Given the description of an element on the screen output the (x, y) to click on. 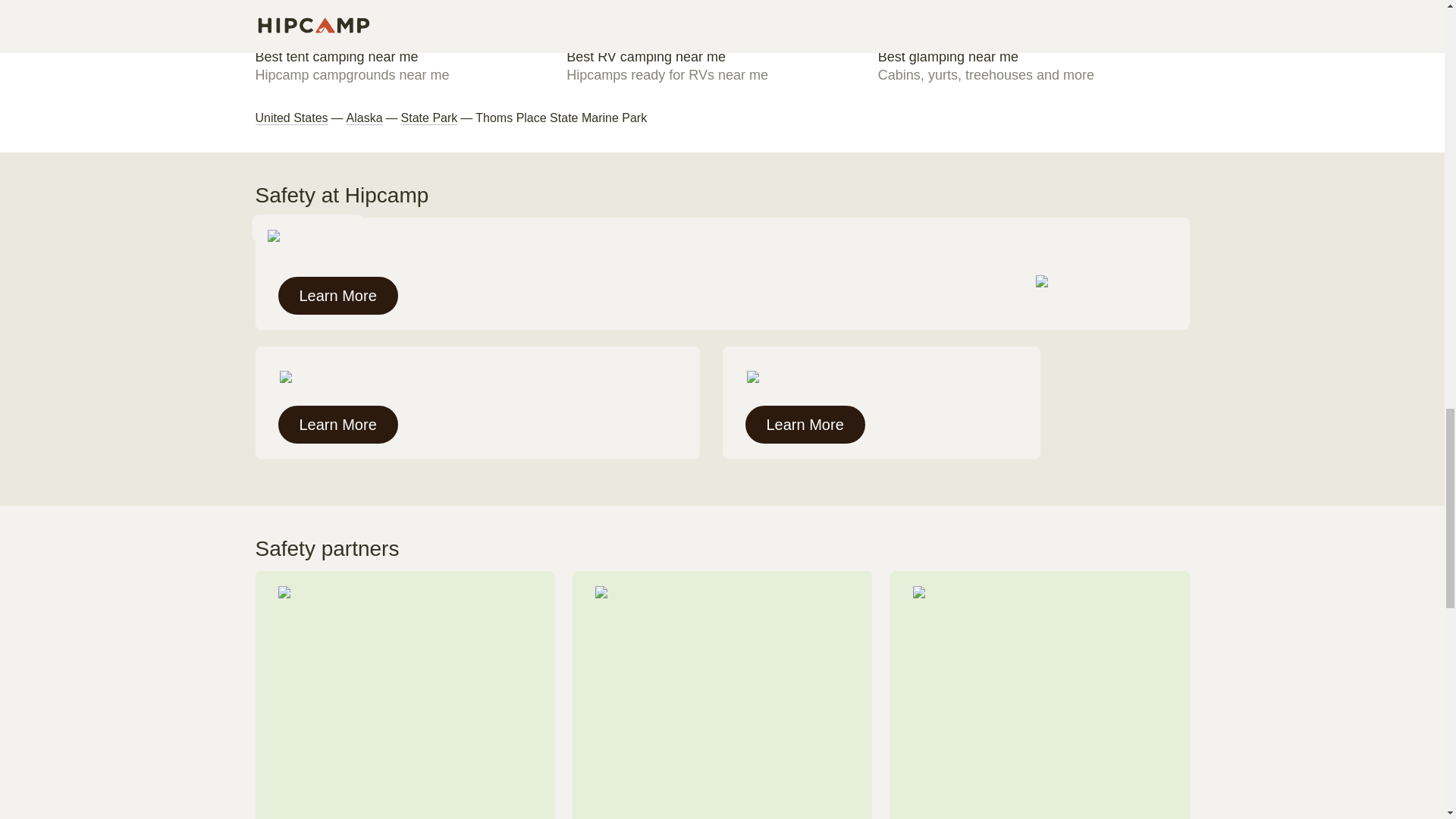
Learn More (410, 65)
United States (337, 424)
State Park (290, 118)
Learn More (429, 118)
Alaska (337, 295)
Learn More (364, 118)
